Given the description of an element on the screen output the (x, y) to click on. 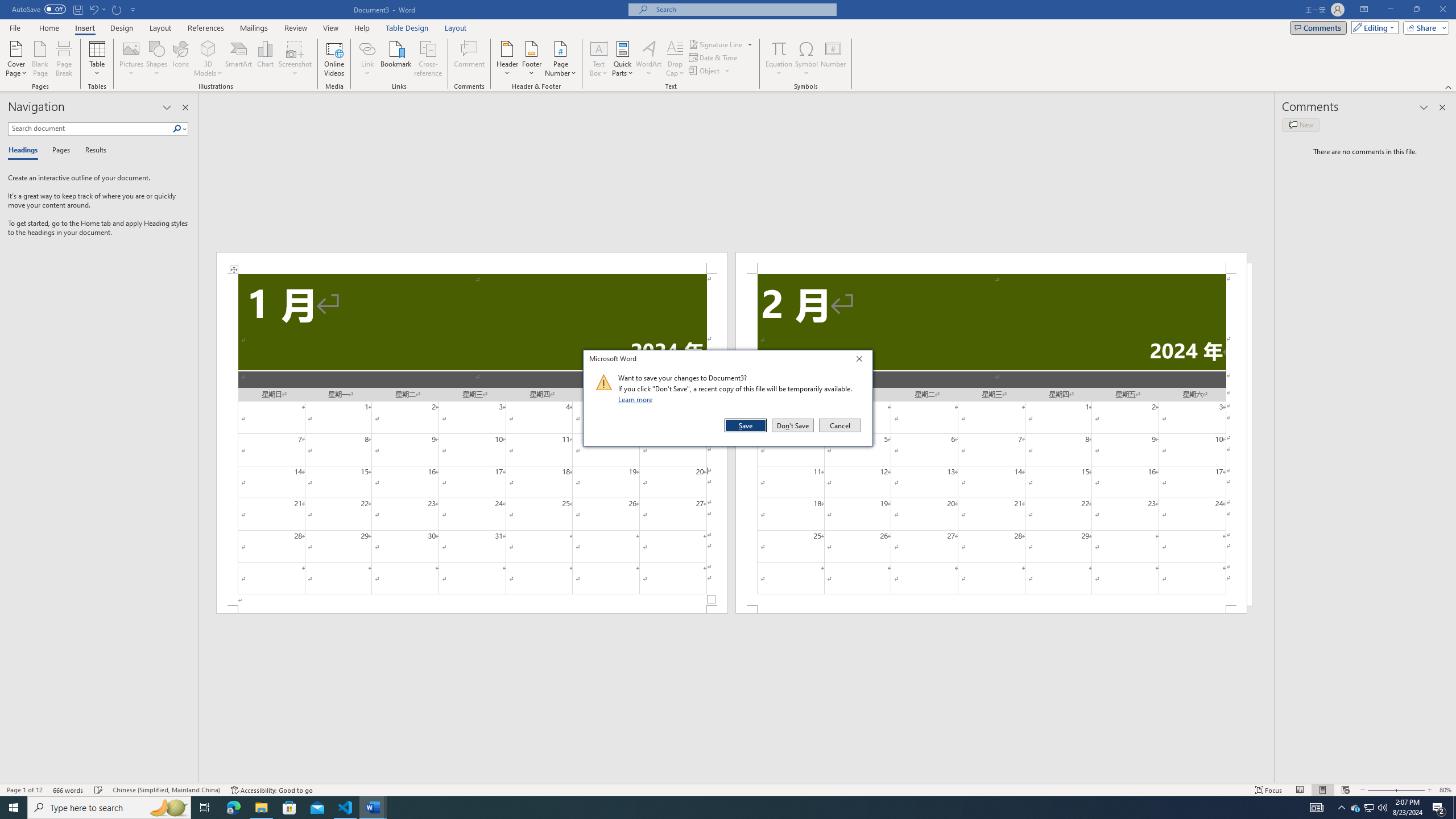
Page Break (63, 58)
Shapes (156, 58)
Icons (180, 58)
Link (367, 48)
WordArt (648, 58)
Symbol (806, 58)
Bookmark... (396, 58)
Page Number Page 1 of 12 (24, 790)
Microsoft Edge (233, 807)
